Given the description of an element on the screen output the (x, y) to click on. 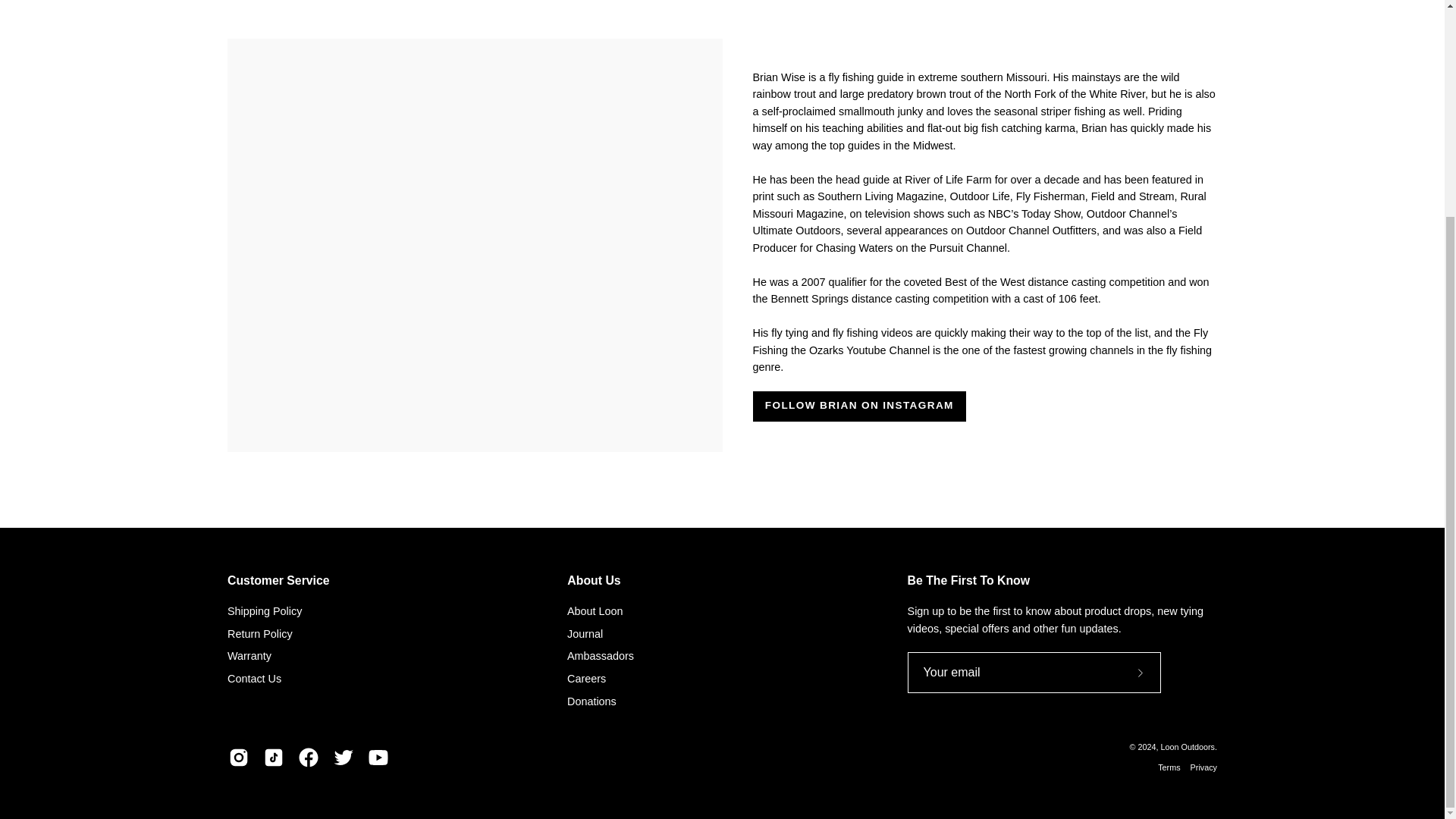
View Loon Outdoors on Facebook (308, 757)
View Loon Outdoors on Tiktok (273, 757)
View Loon Outdoors on Twitter (343, 757)
View Loon Outdoors on Instagram (238, 757)
View Loon Outdoors on Youtube (378, 757)
